Given the description of an element on the screen output the (x, y) to click on. 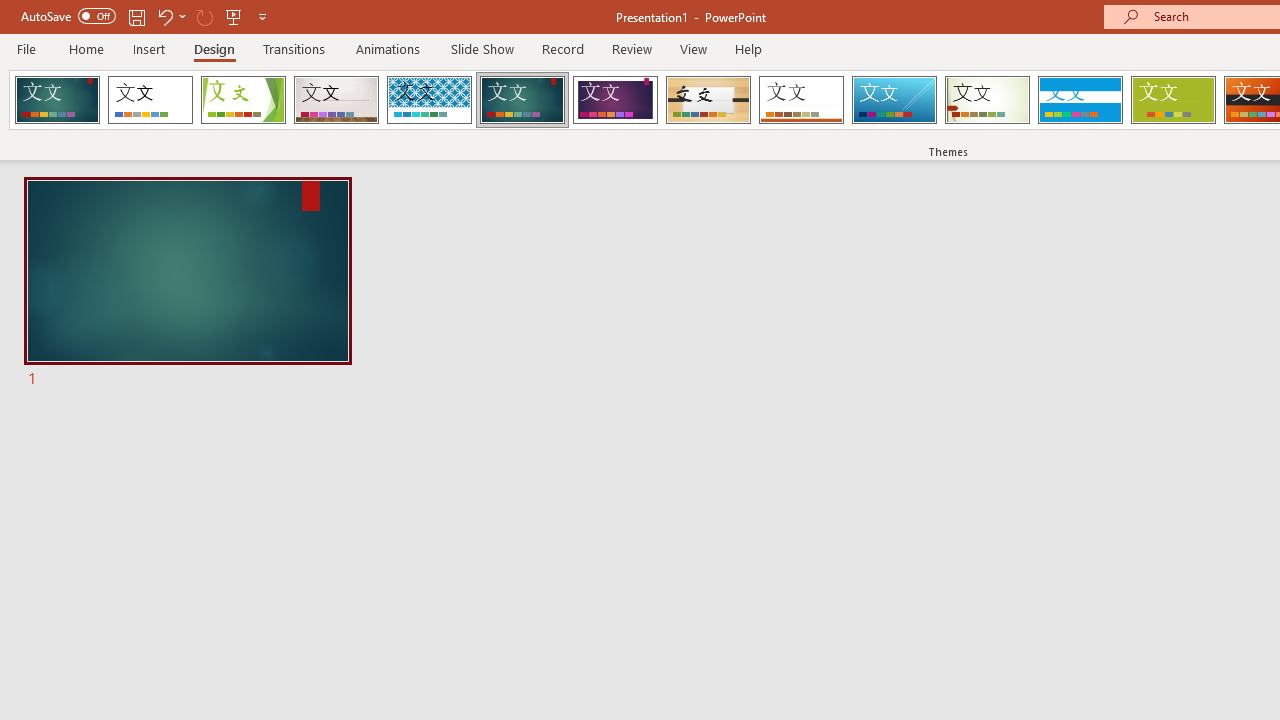
Retrospect Loading Preview... (801, 100)
Organic Loading Preview... (708, 100)
Integral Loading Preview... (429, 100)
Basis Loading Preview... (1172, 100)
Ion Boardroom Loading Preview... (615, 100)
Ion Loading Preview... (522, 100)
